Given the description of an element on the screen output the (x, y) to click on. 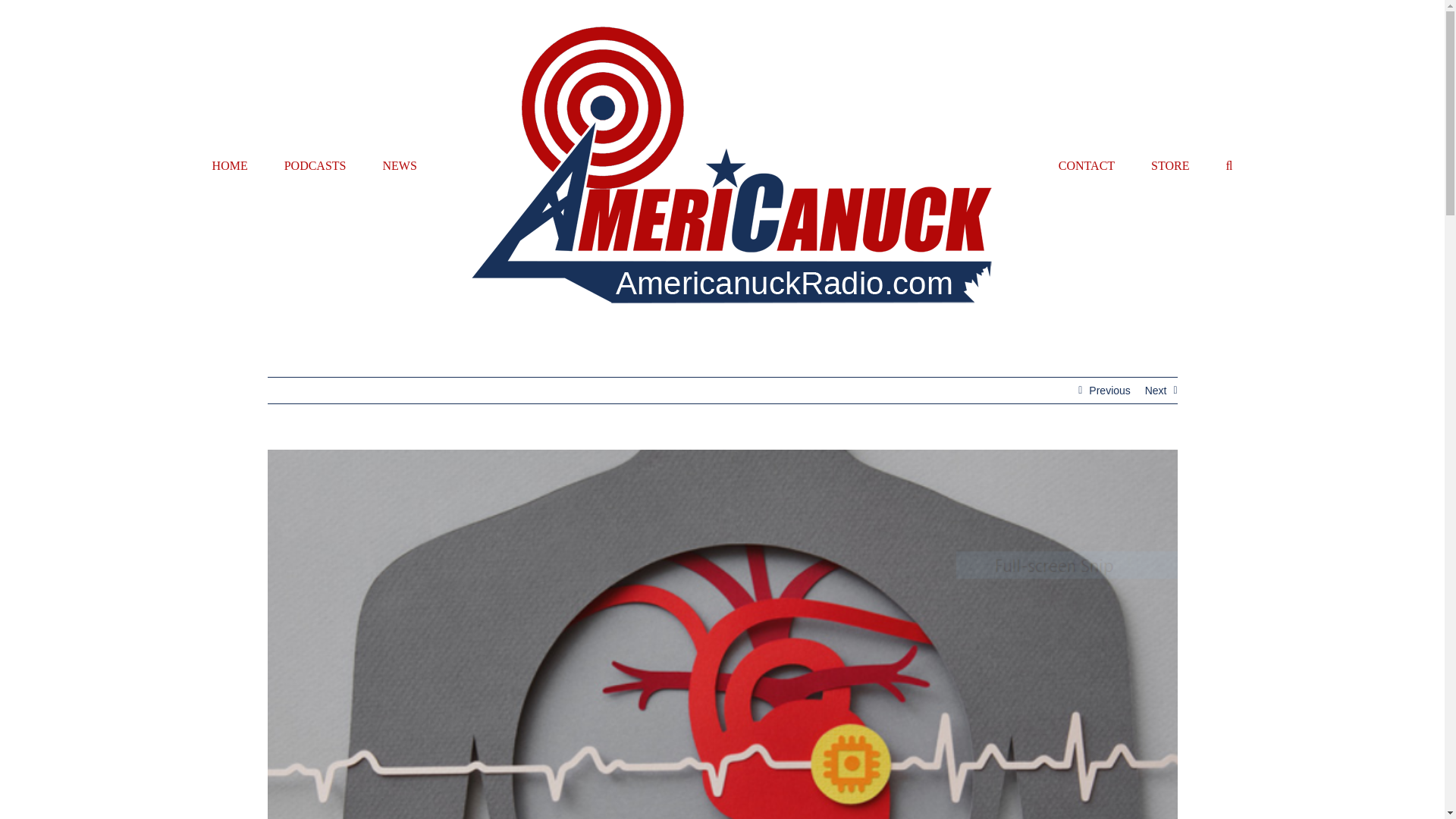
PODCASTS (314, 165)
Previous (1109, 390)
